Given the description of an element on the screen output the (x, y) to click on. 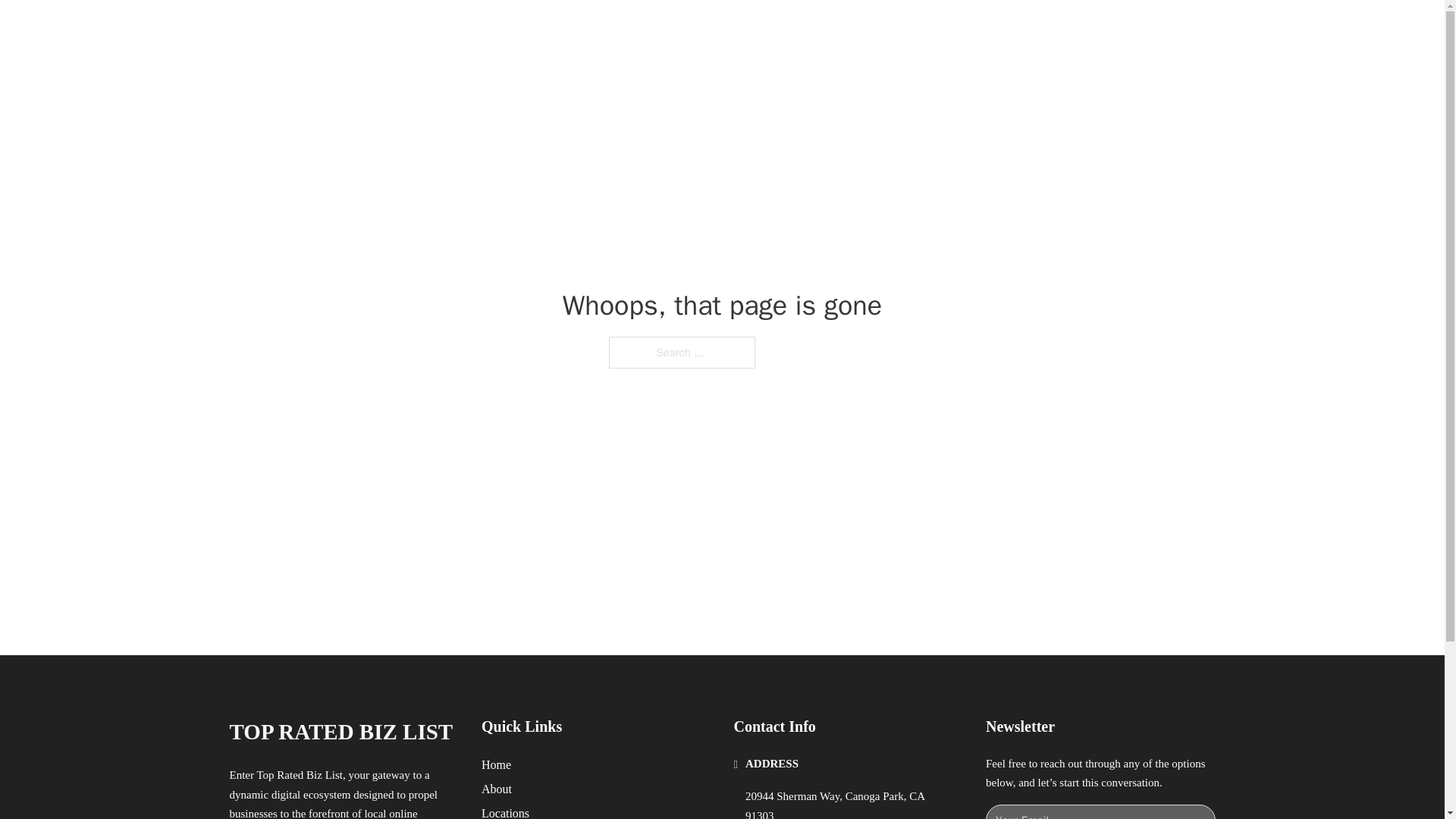
LOCATIONS (990, 29)
HOME (919, 29)
TOP RATED BIZ LIST (410, 28)
About (496, 788)
TOP RATED BIZ LIST (340, 732)
Home (496, 764)
Locations (505, 811)
